Given the description of an element on the screen output the (x, y) to click on. 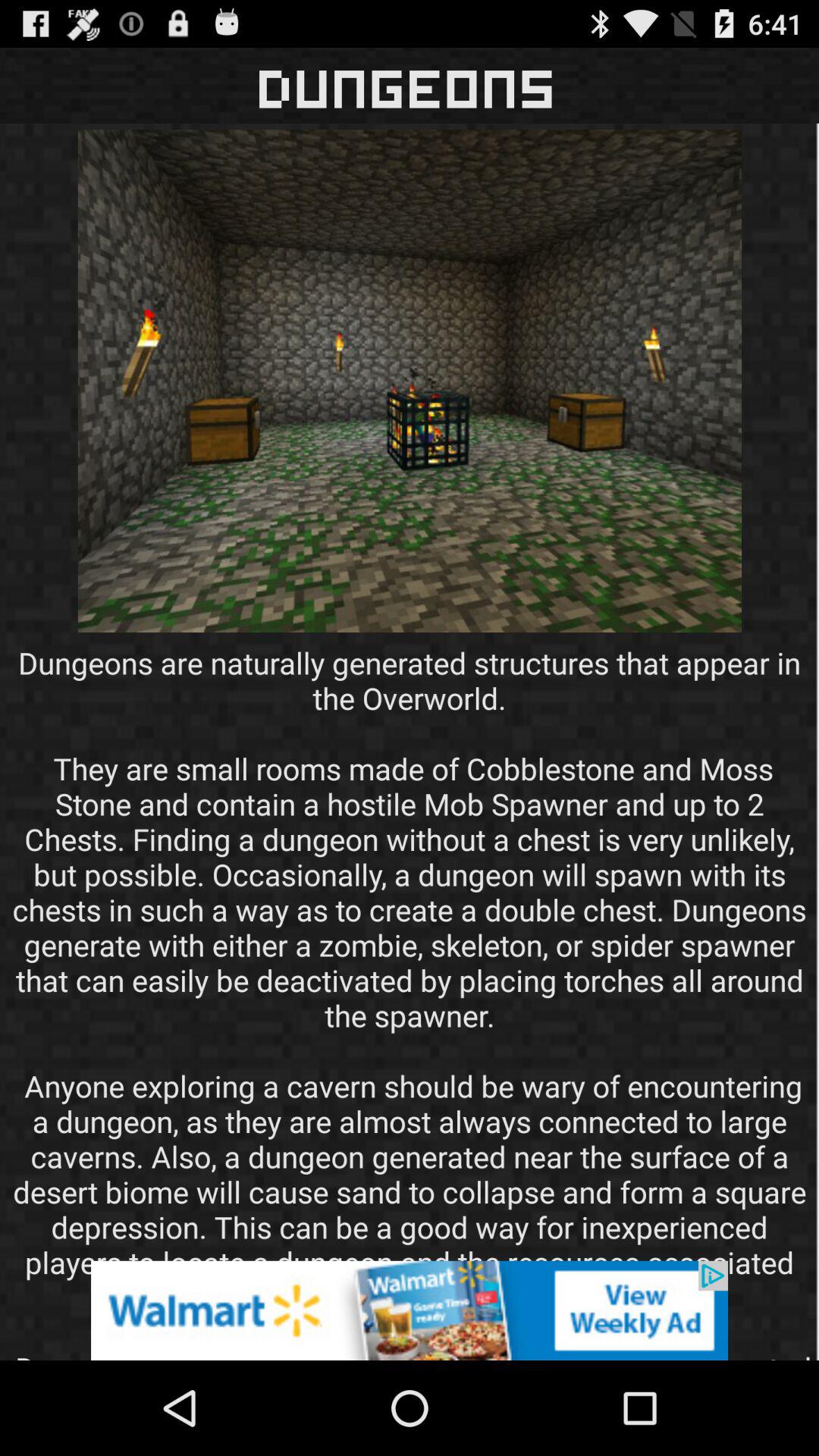
advertisement (409, 1310)
